Given the description of an element on the screen output the (x, y) to click on. 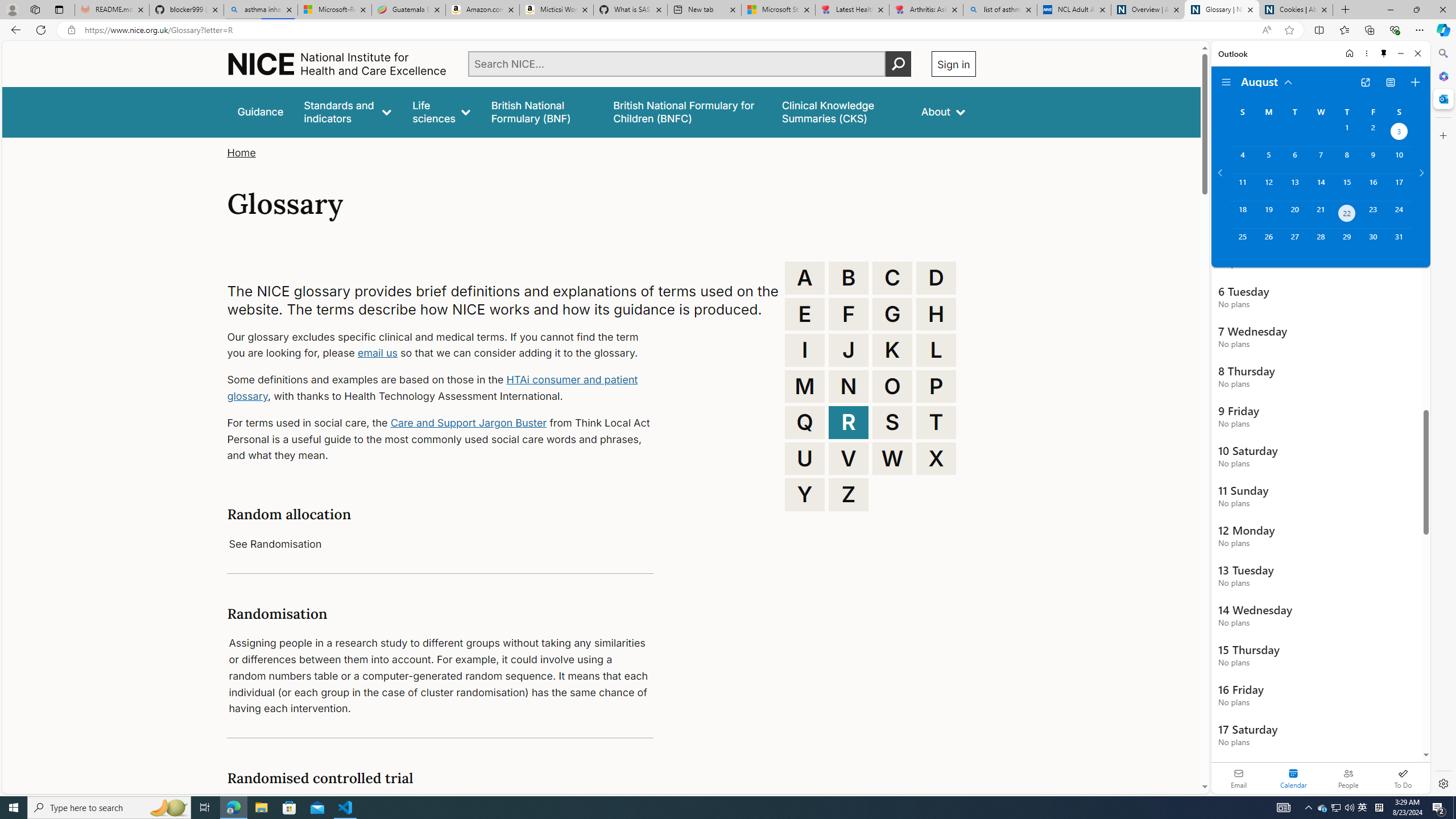
Cookies | About | NICE (1295, 9)
Monday, August 19, 2024.  (1268, 214)
Microsoft-Report a Concern to Bing (334, 9)
P (935, 385)
View site information (70, 29)
Sign in (952, 63)
Thursday, August 1, 2024.  (1346, 132)
Microsoft Start (777, 9)
G (892, 313)
App bar (728, 29)
Friday, August 9, 2024.  (1372, 159)
Address and search bar (669, 29)
L (935, 350)
S (892, 422)
